Given the description of an element on the screen output the (x, y) to click on. 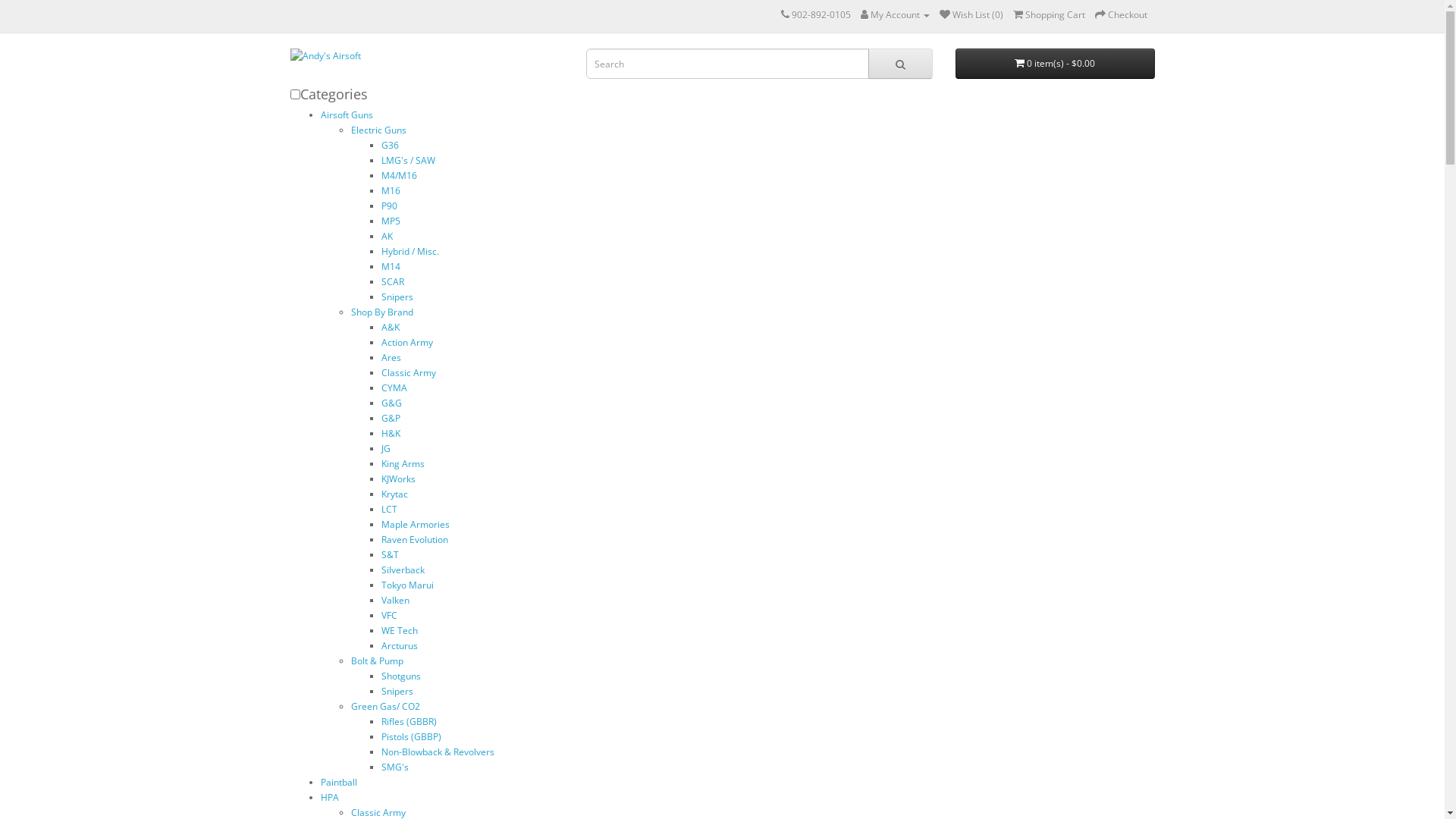
Andy's Airsoft Element type: hover (425, 55)
HPA Element type: text (329, 796)
Ares Element type: text (390, 357)
Raven Evolution Element type: text (413, 539)
Green Gas/ CO2 Element type: text (384, 705)
Valken Element type: text (394, 599)
Paintball Element type: text (338, 781)
Rifles (GBBR) Element type: text (408, 721)
Snipers Element type: text (396, 690)
Hybrid / Misc. Element type: text (409, 250)
KJWorks Element type: text (397, 478)
LMG's / SAW Element type: text (407, 159)
G&P Element type: text (389, 417)
G&G Element type: text (390, 402)
M14 Element type: text (389, 266)
Pistols (GBBP) Element type: text (410, 736)
Wish List (0) Element type: text (970, 14)
MP5 Element type: text (389, 220)
P90 Element type: text (388, 205)
Checkout Element type: text (1121, 14)
S&T Element type: text (389, 554)
M4/M16 Element type: text (398, 175)
Arcturus Element type: text (398, 645)
M16 Element type: text (389, 190)
H&K Element type: text (389, 432)
Shopping Cart Element type: text (1049, 14)
Shop By Brand Element type: text (381, 311)
King Arms Element type: text (401, 463)
Classic Army Element type: text (407, 372)
Electric Guns Element type: text (377, 129)
G36 Element type: text (389, 144)
Maple Armories Element type: text (414, 523)
CYMA Element type: text (393, 387)
0 item(s) - $0.00 Element type: text (1054, 63)
VFC Element type: text (388, 614)
Airsoft Guns Element type: text (346, 114)
AK Element type: text (386, 235)
Silverback Element type: text (401, 569)
WE Tech Element type: text (398, 630)
SMG's Element type: text (393, 766)
A&K Element type: text (389, 326)
Shotguns Element type: text (400, 675)
JG Element type: text (384, 448)
Snipers Element type: text (396, 296)
LCT Element type: text (388, 508)
SCAR Element type: text (391, 281)
Bolt & Pump Element type: text (376, 660)
Tokyo Marui Element type: text (406, 584)
Krytac Element type: text (393, 493)
My Account Element type: text (893, 14)
Action Army Element type: text (406, 341)
Non-Blowback & Revolvers Element type: text (436, 751)
